Given the description of an element on the screen output the (x, y) to click on. 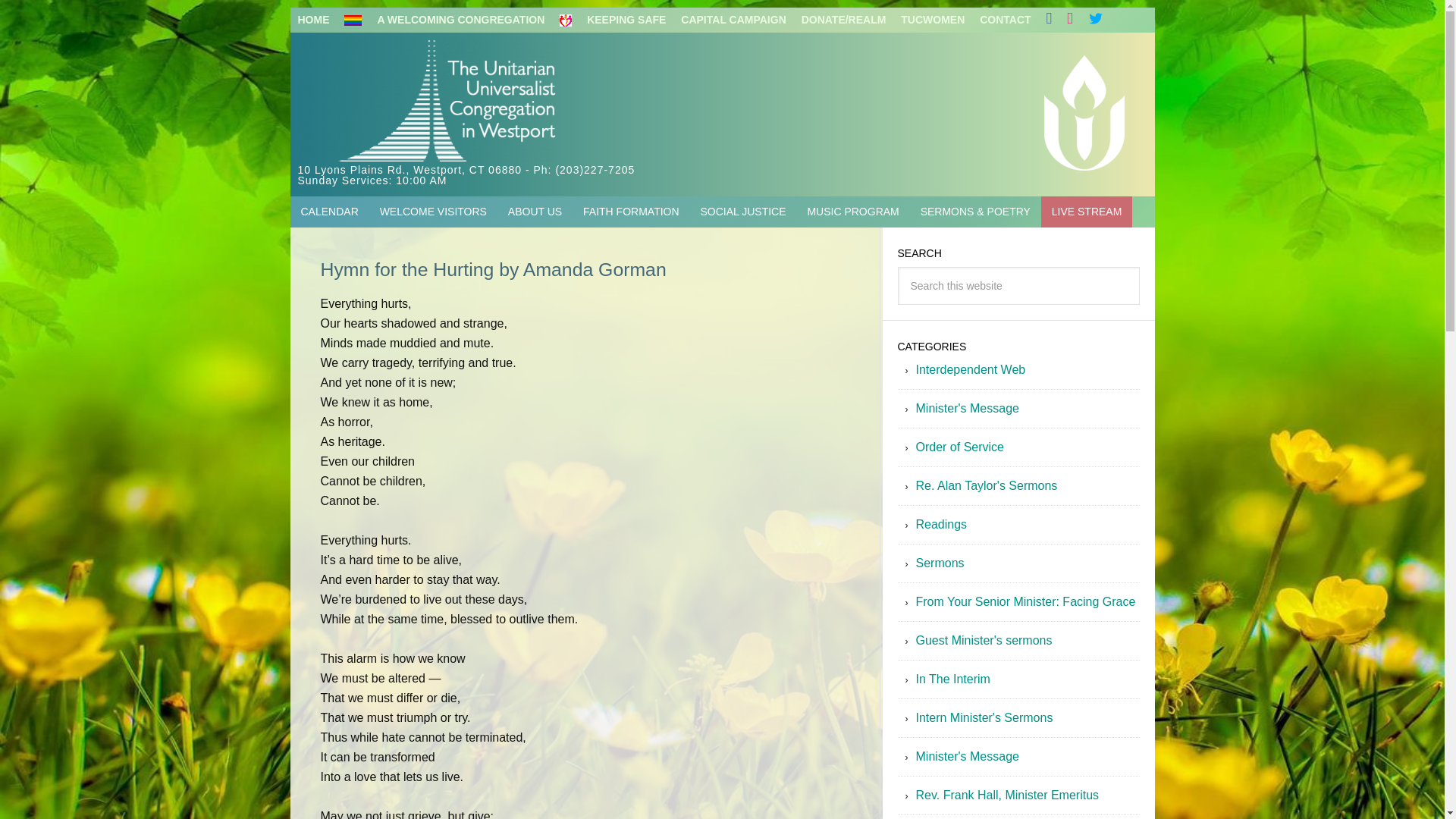
KEEPING SAFE (611, 19)
HOME (312, 19)
TUCWOMEN (932, 19)
TWITTER (1095, 19)
CAPITAL CAMPAIGN (732, 19)
ABOUT US (534, 211)
A WELCOMING CONGREGATION (443, 19)
CONTACT (1005, 19)
THE UNITARIAN UNIVERSALIST CONGREGATION IN WESTPORT (535, 102)
CALENDAR (328, 211)
WELCOME VISITORS (433, 211)
